Given the description of an element on the screen output the (x, y) to click on. 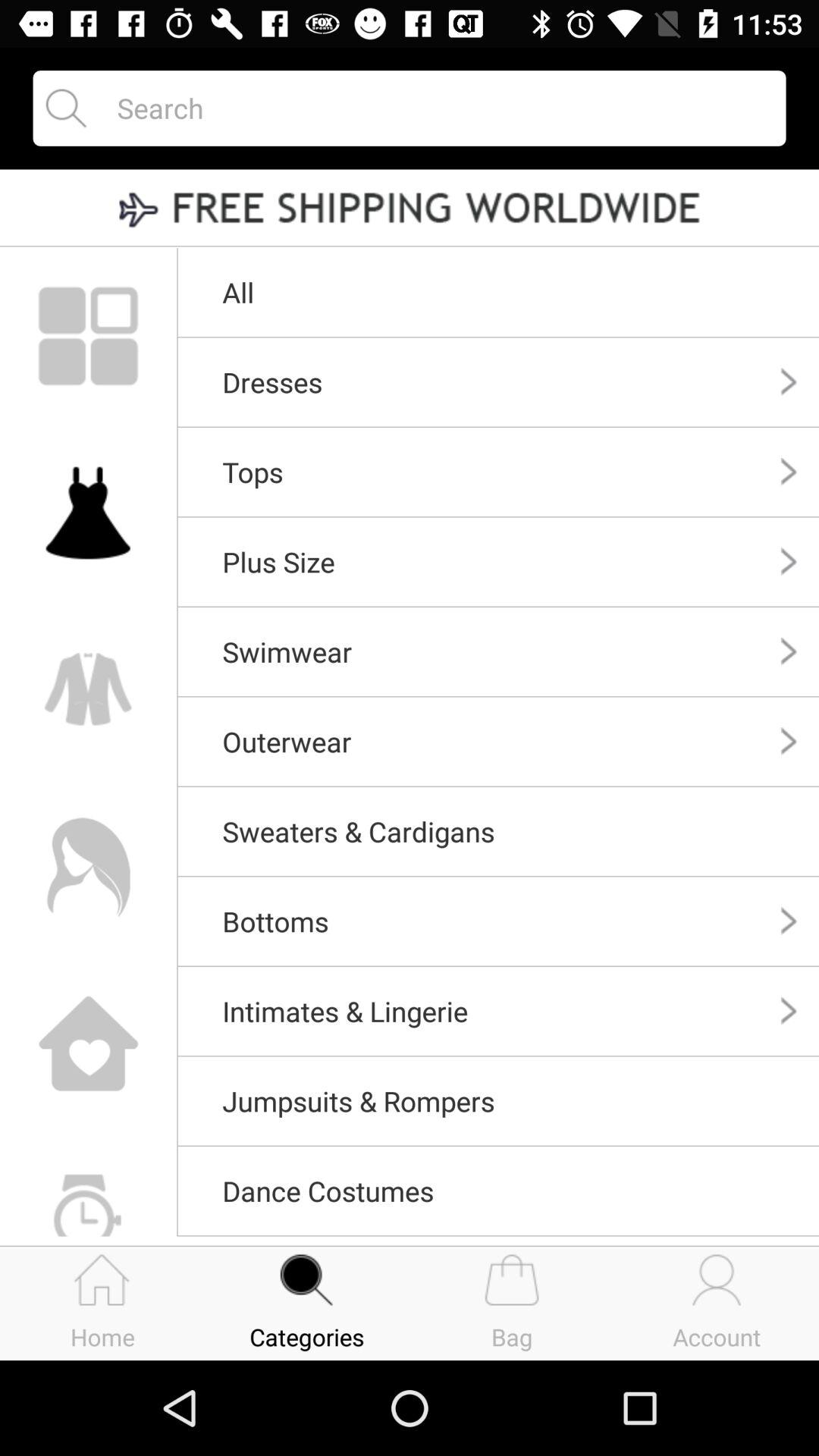
click the last right scroll icon (788, 1011)
